Given the description of an element on the screen output the (x, y) to click on. 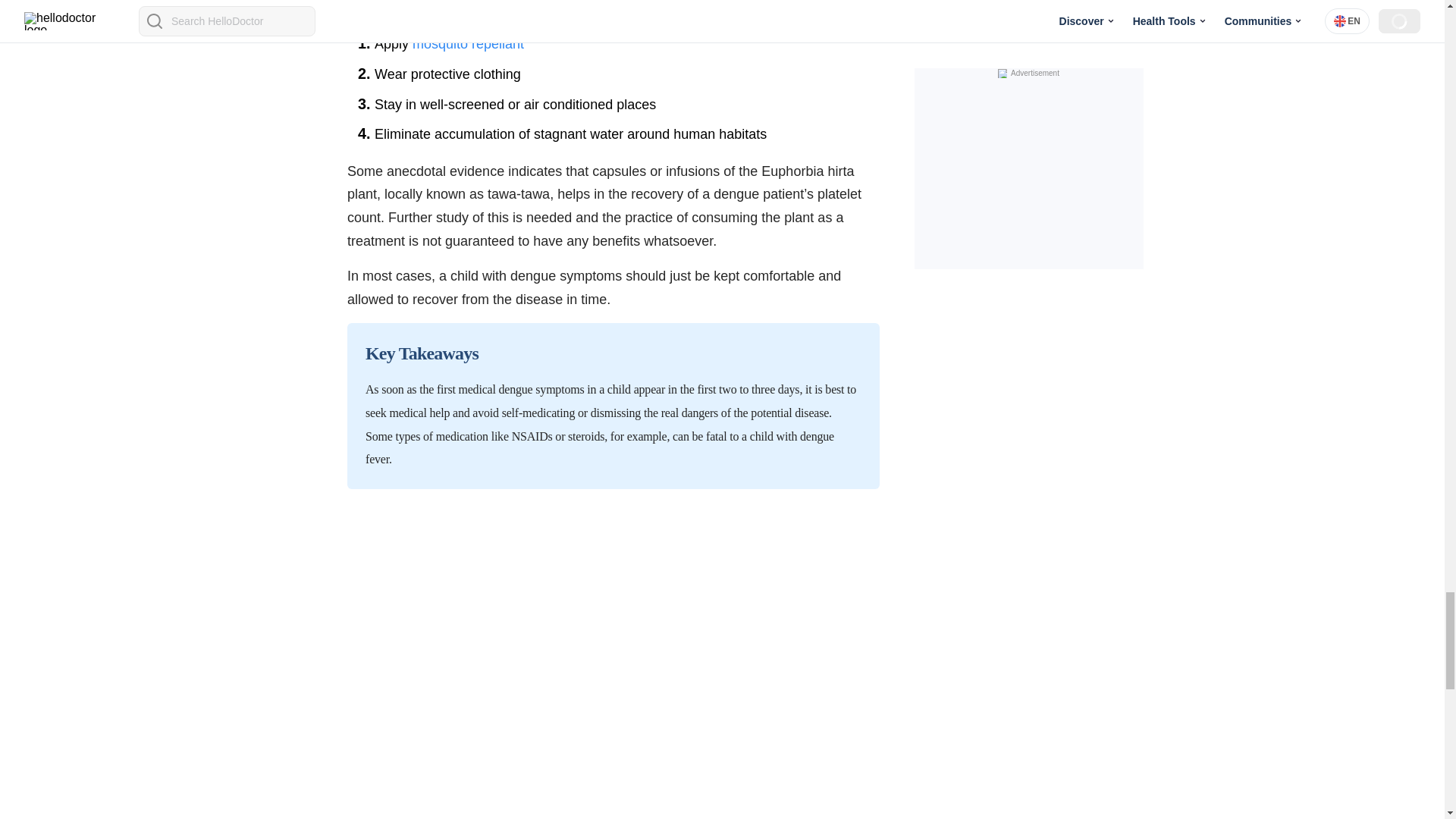
Hydration for Good Health: Tips and Benefits (509, 272)
Are Mosquito Patches Safe For Babies? (468, 682)
